Given the description of an element on the screen output the (x, y) to click on. 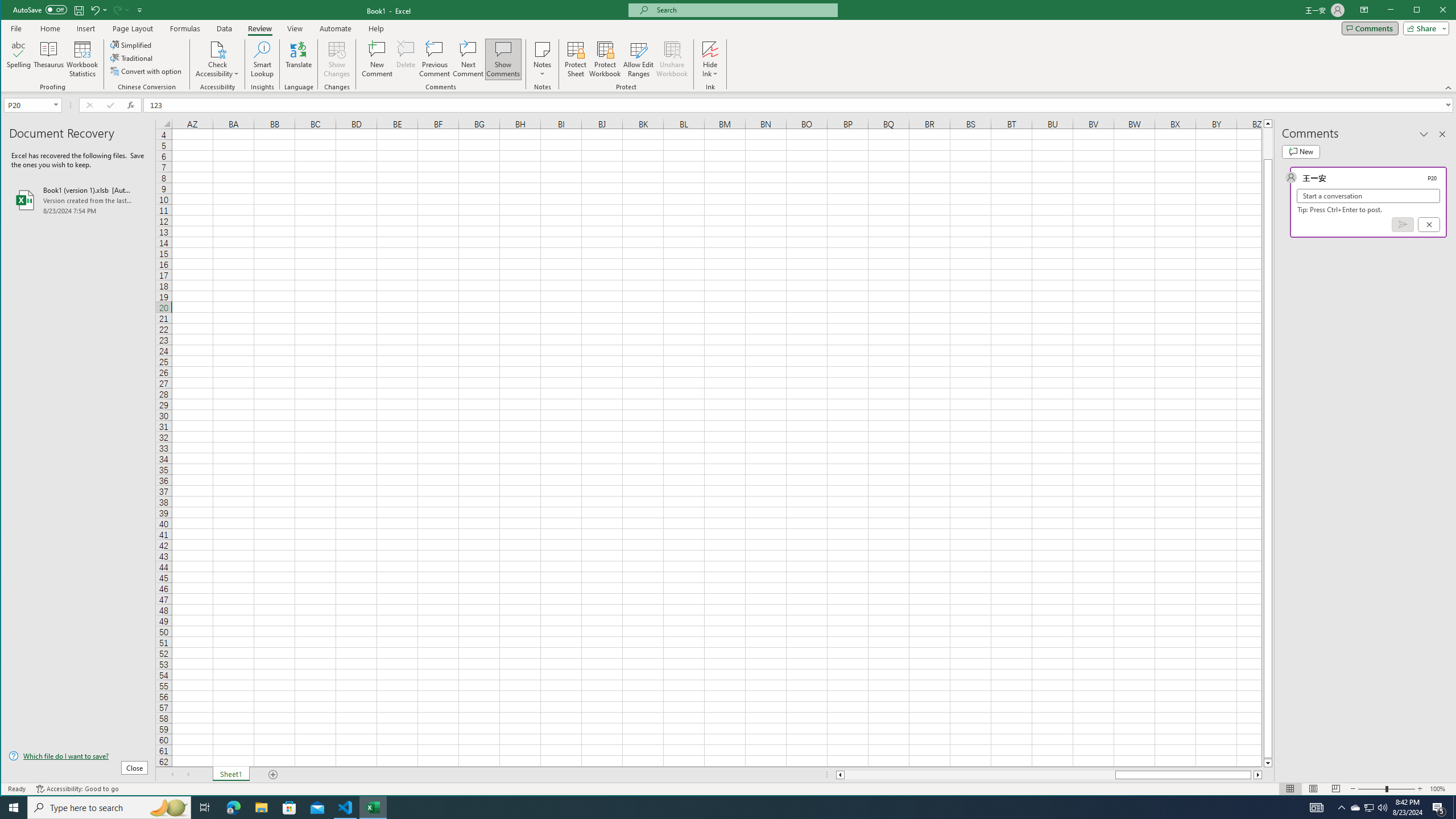
Search highlights icon opens search home window (167, 807)
Excel - 1 running window (373, 807)
Notes (541, 59)
Cancel (1428, 224)
AutomationID: 4105 (1316, 807)
Post comment (Ctrl + Enter) (1402, 224)
Translate (298, 59)
